Given the description of an element on the screen output the (x, y) to click on. 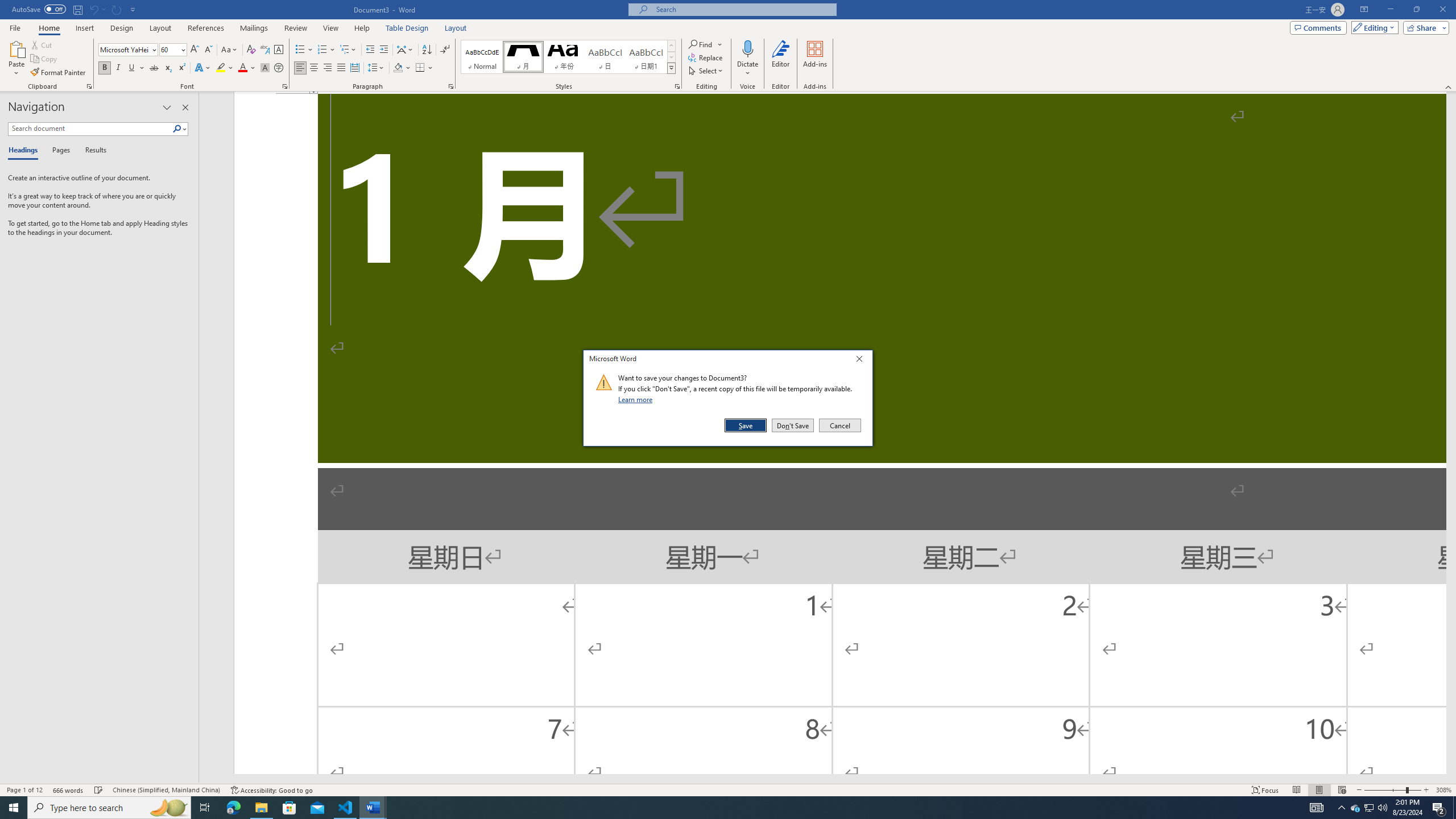
Search highlights icon opens search home window (167, 807)
Review (295, 28)
